Given the description of an element on the screen output the (x, y) to click on. 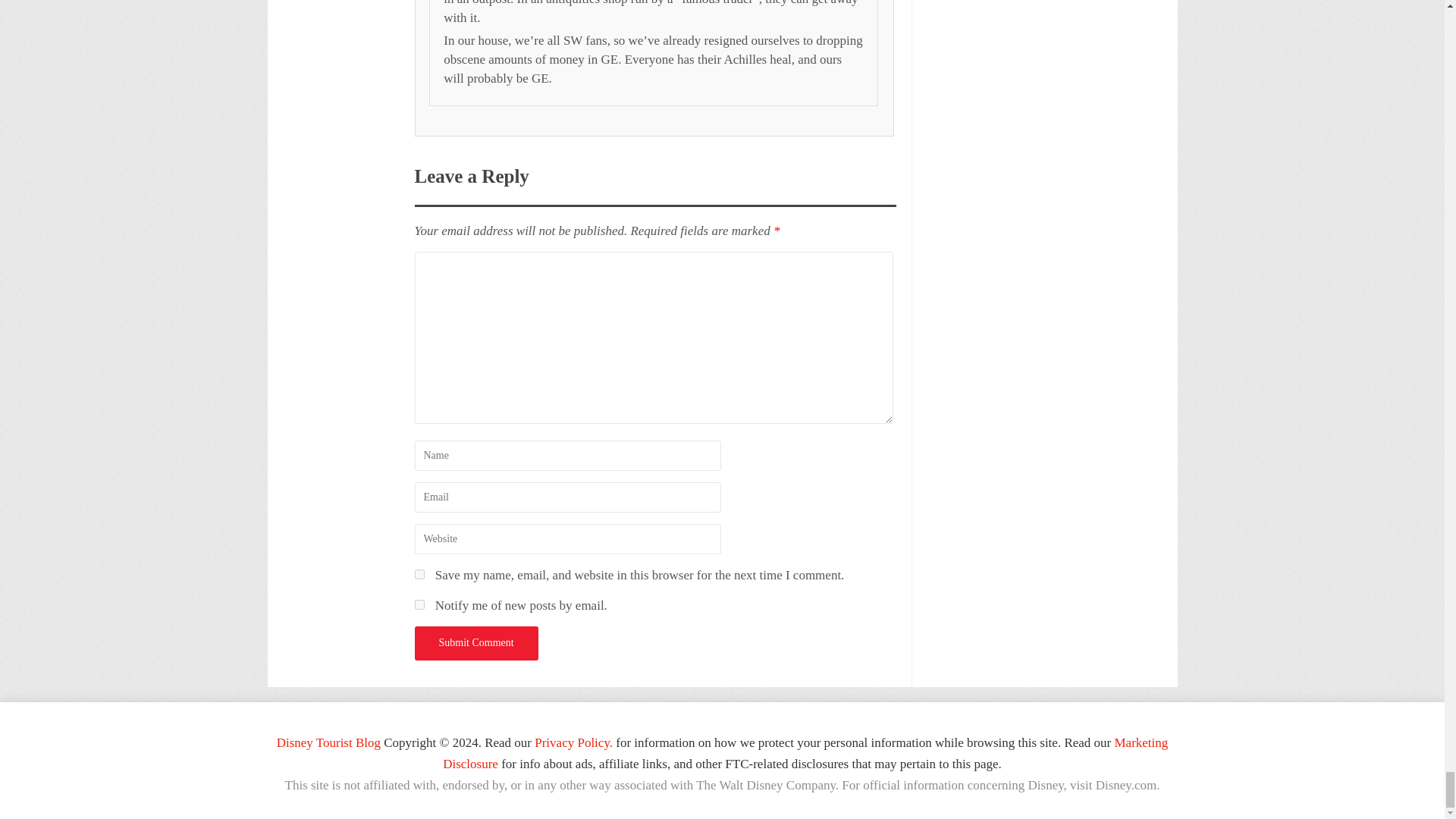
Submit Comment (475, 643)
subscribe (418, 604)
yes (418, 574)
